Given the description of an element on the screen output the (x, y) to click on. 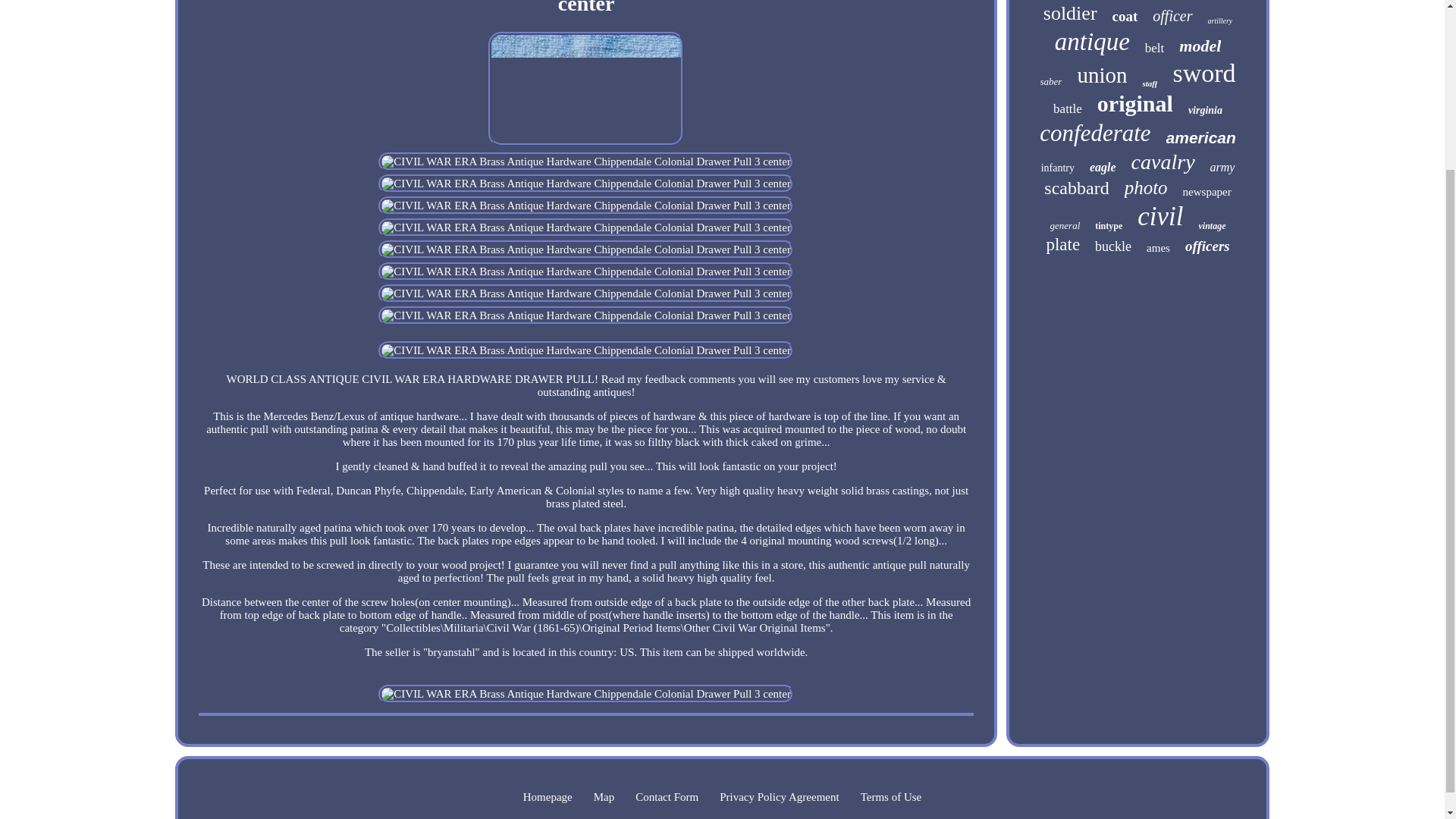
model (1200, 46)
staff (1149, 82)
soldier (1070, 13)
cavalry (1163, 161)
scabbard (1075, 188)
battle (1066, 109)
coat (1125, 16)
virginia (1205, 110)
army (1221, 167)
infantry (1057, 168)
